Given the description of an element on the screen output the (x, y) to click on. 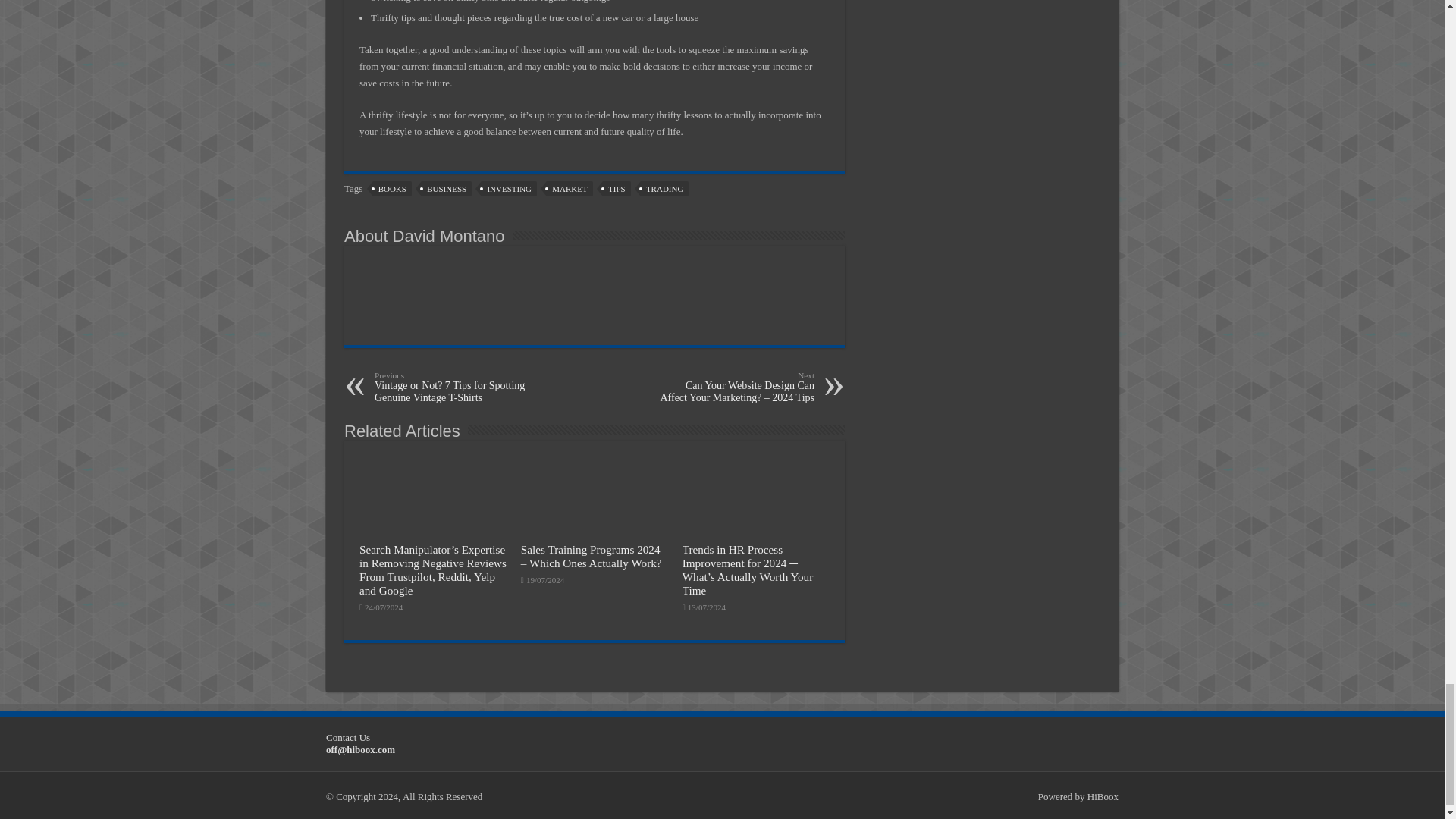
BOOKS (392, 188)
MARKET (569, 188)
TRADING (664, 188)
BUSINESS (446, 188)
TIPS (616, 188)
INVESTING (509, 188)
